Given the description of an element on the screen output the (x, y) to click on. 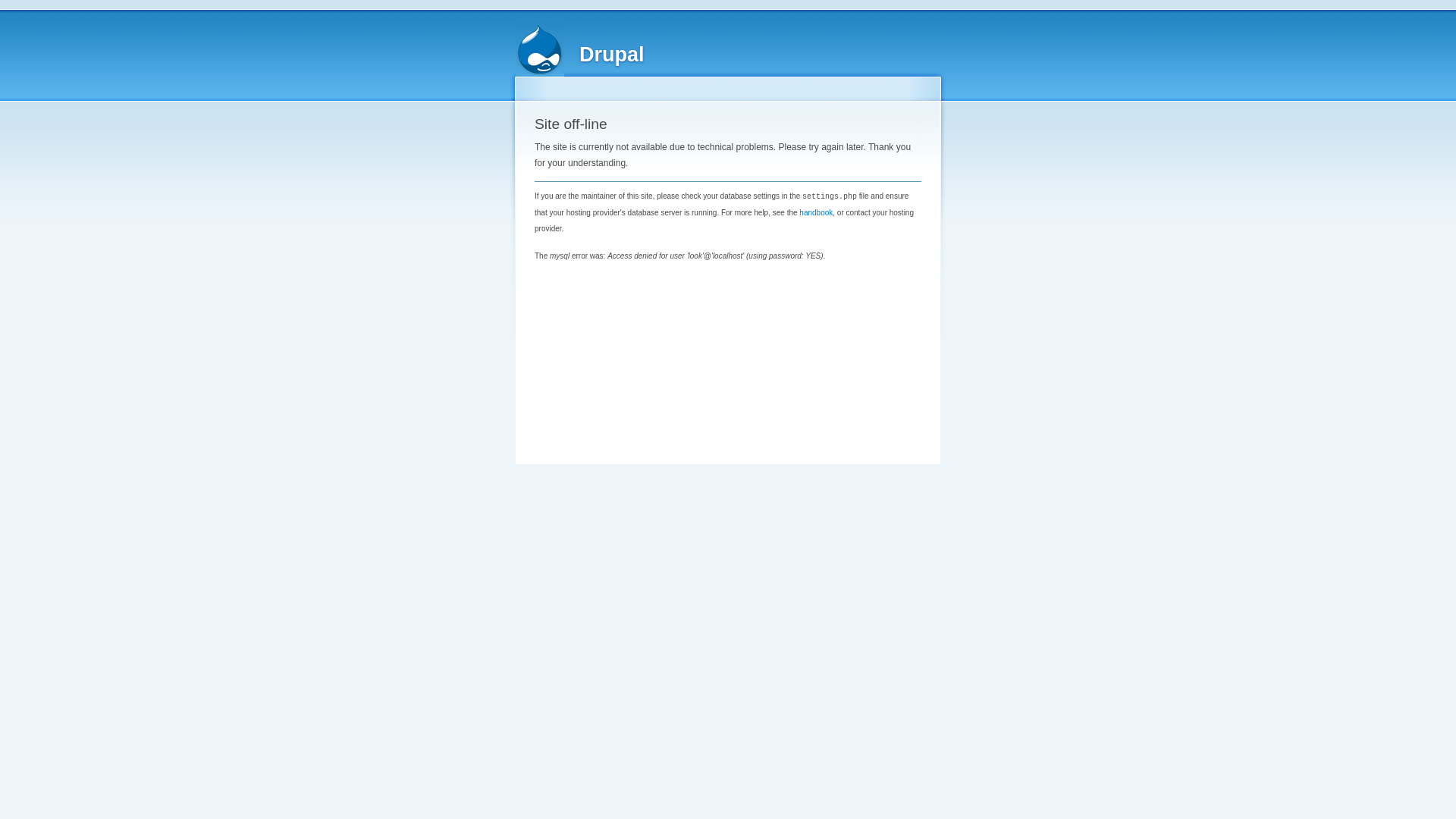
handbook Element type: text (815, 212)
Drupal Element type: text (611, 54)
